Given the description of an element on the screen output the (x, y) to click on. 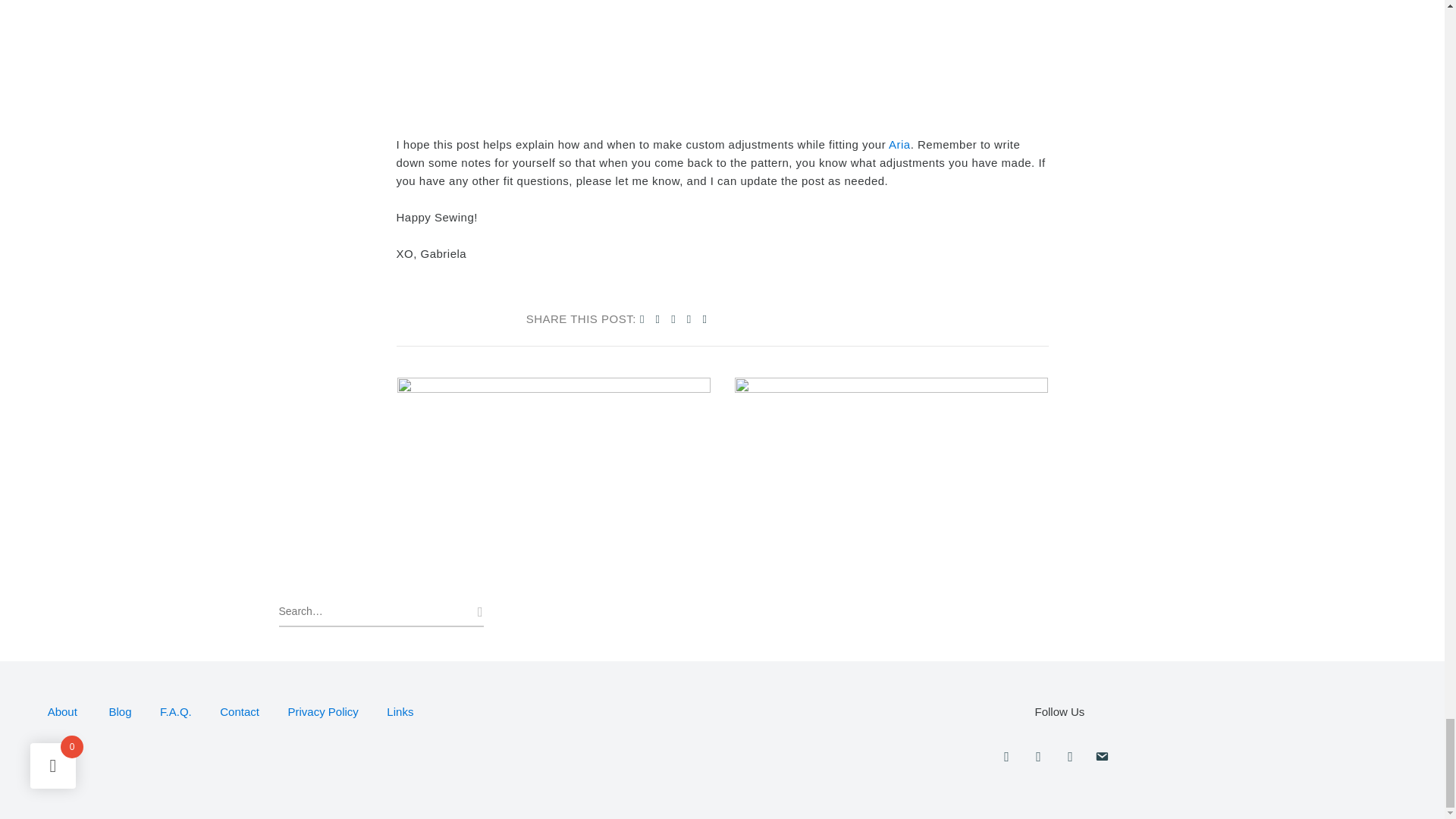
Default Label (1102, 756)
Instagram (1005, 756)
Default Label (1038, 756)
Default Label (1070, 756)
